Given the description of an element on the screen output the (x, y) to click on. 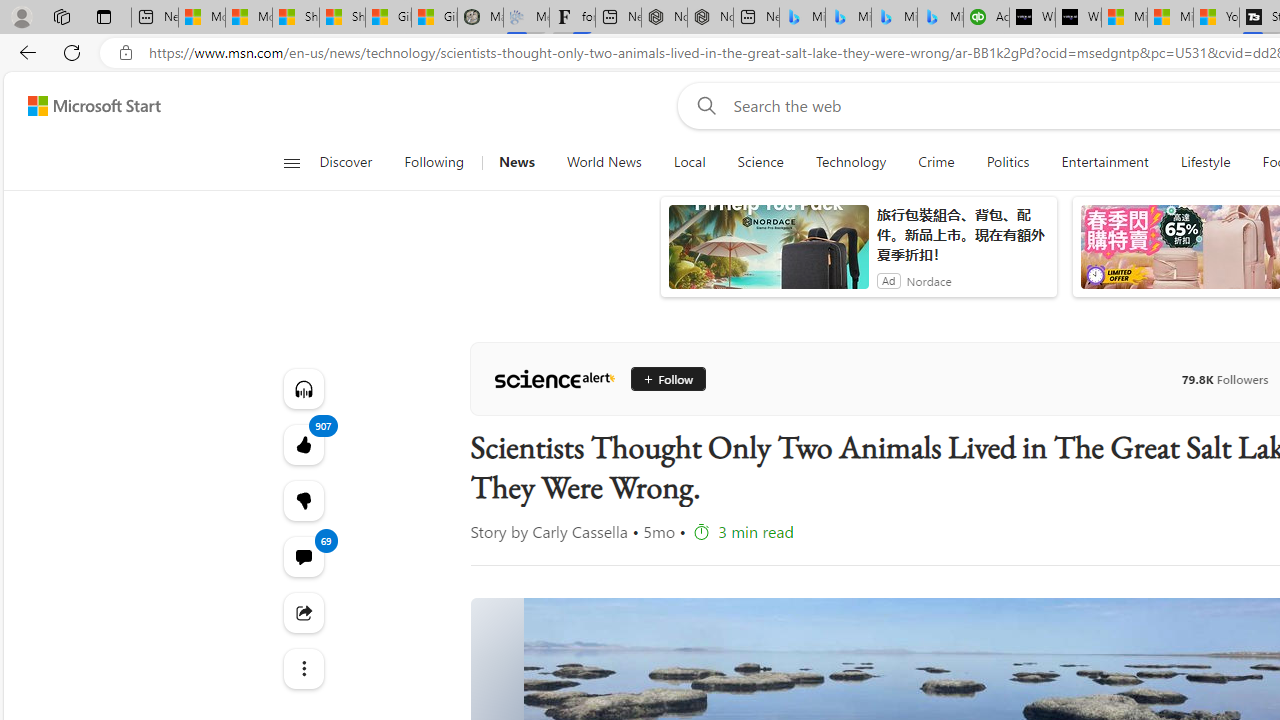
Skip to footer (82, 105)
Following (434, 162)
Nordace (929, 280)
Tab actions menu (104, 16)
Share this story (302, 612)
ScienceAlert (554, 378)
Lifestyle (1205, 162)
News (516, 162)
907 Like (302, 444)
Entertainment (1105, 162)
Refresh (72, 52)
Science (760, 162)
View site information (125, 53)
